Given the description of an element on the screen output the (x, y) to click on. 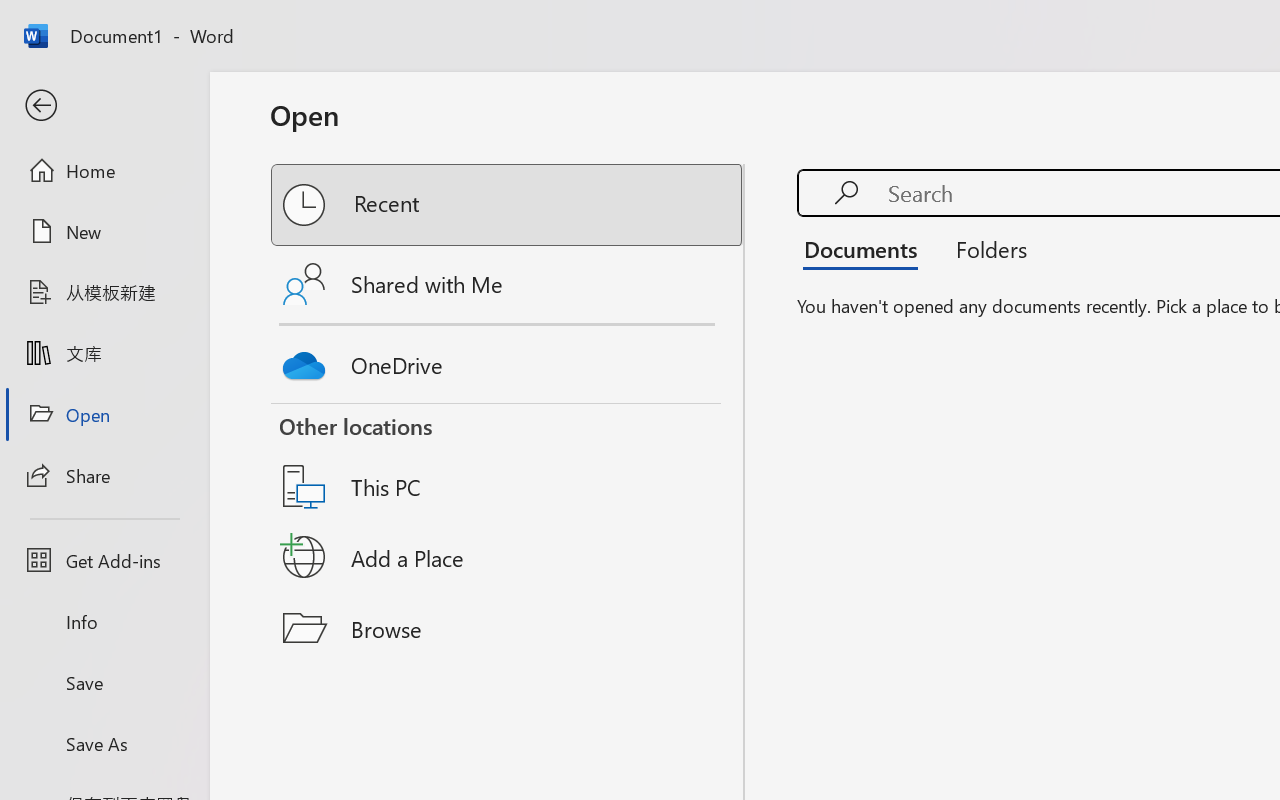
Back (104, 106)
Info (104, 621)
Documents (866, 248)
Shared with Me (507, 283)
Folders (984, 248)
Browse (507, 627)
Save As (104, 743)
Recent (507, 205)
